Given the description of an element on the screen output the (x, y) to click on. 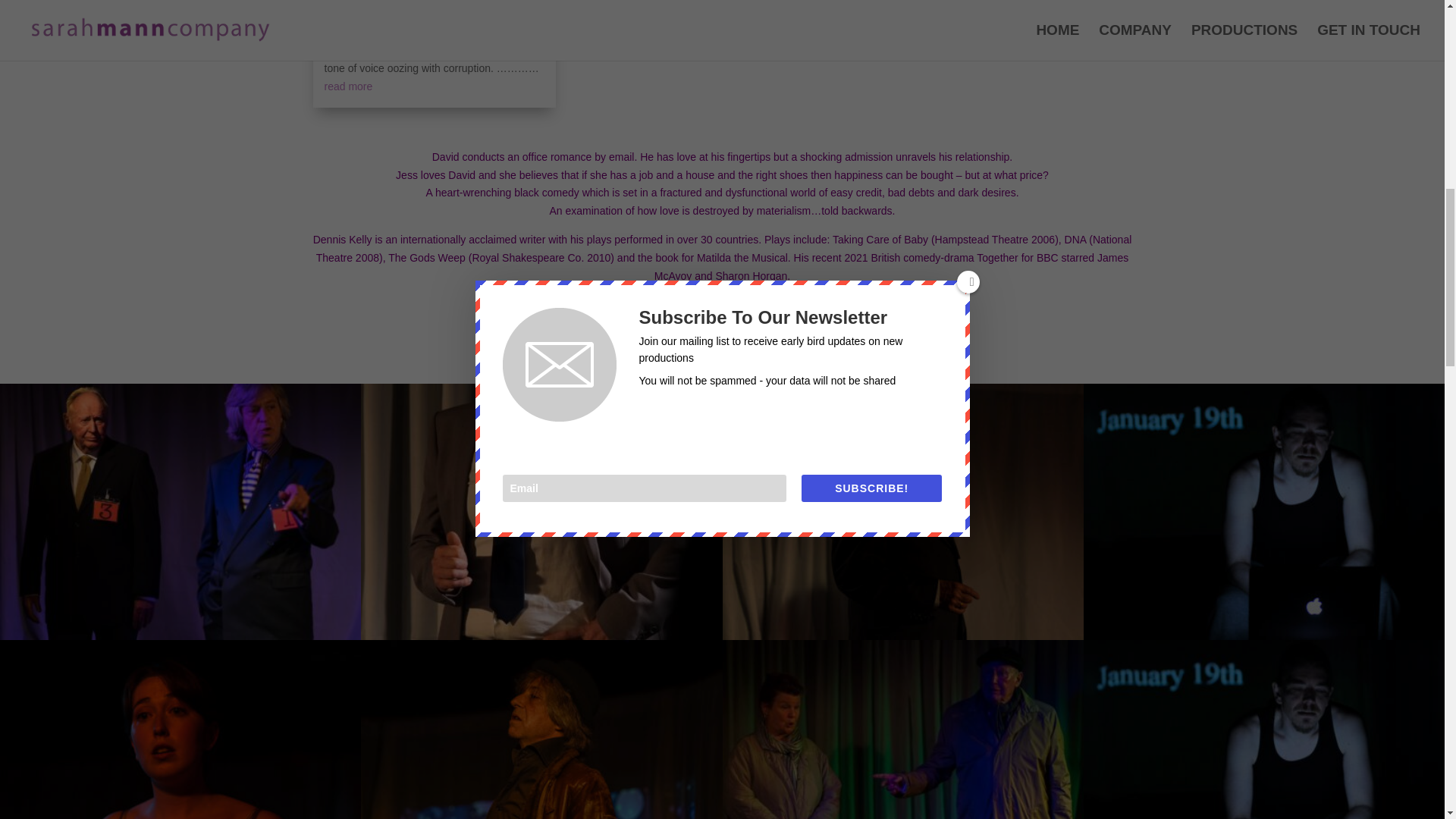
read more (348, 86)
David (541, 639)
Numbers (180, 639)
No3 (902, 639)
